Given the description of an element on the screen output the (x, y) to click on. 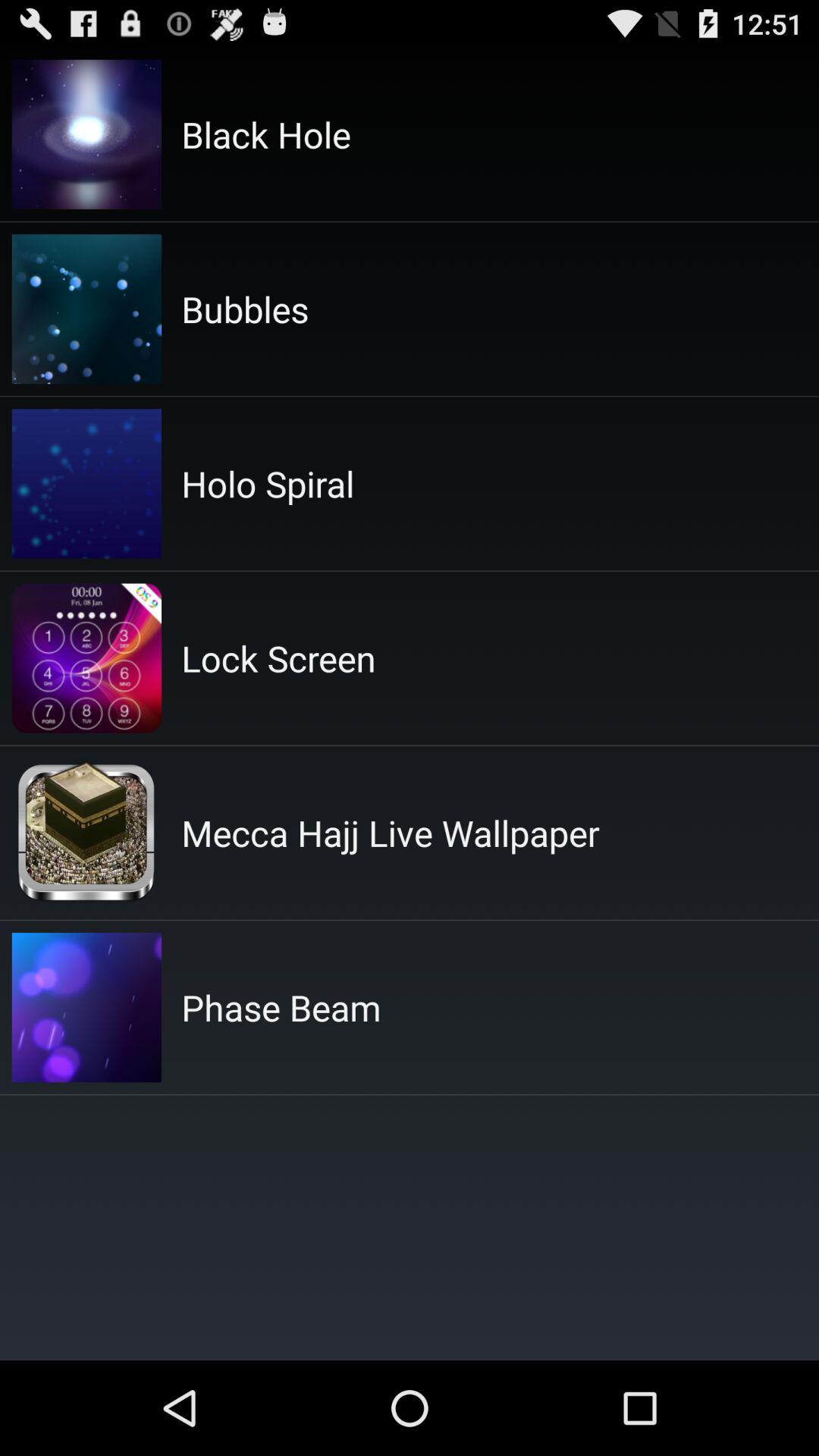
launch phase beam (281, 1007)
